Given the description of an element on the screen output the (x, y) to click on. 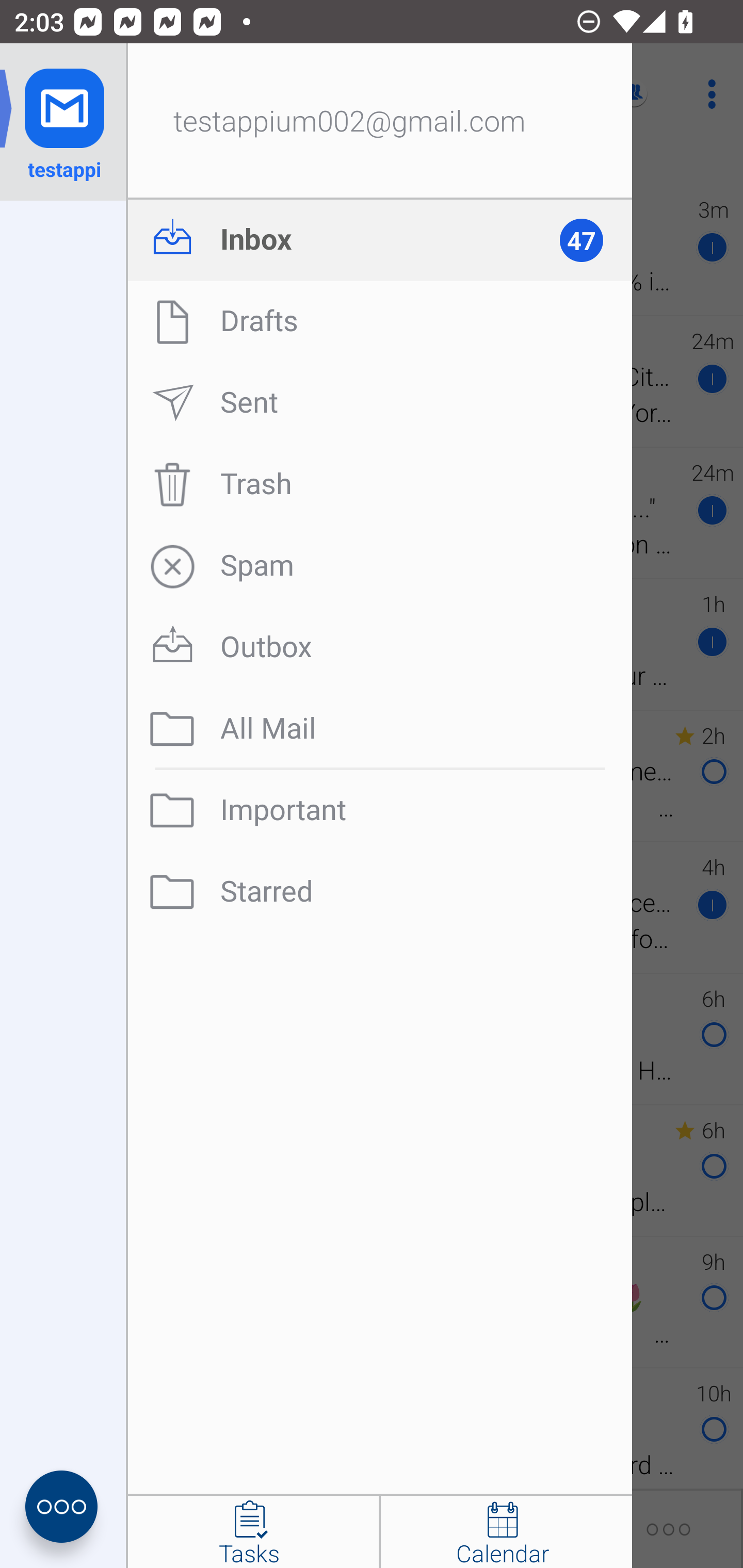
Navigate up (81, 93)
testappium002@gmail.com (379, 121)
Inbox 47 (379, 239)
47 (590, 239)
Drafts (379, 321)
Sent (379, 402)
Trash (379, 484)
Spam (379, 565)
Outbox (379, 647)
All Mail (379, 728)
Important (379, 810)
Starred (379, 891)
Tasks (252, 1531)
Calendar (506, 1531)
